Given the description of an element on the screen output the (x, y) to click on. 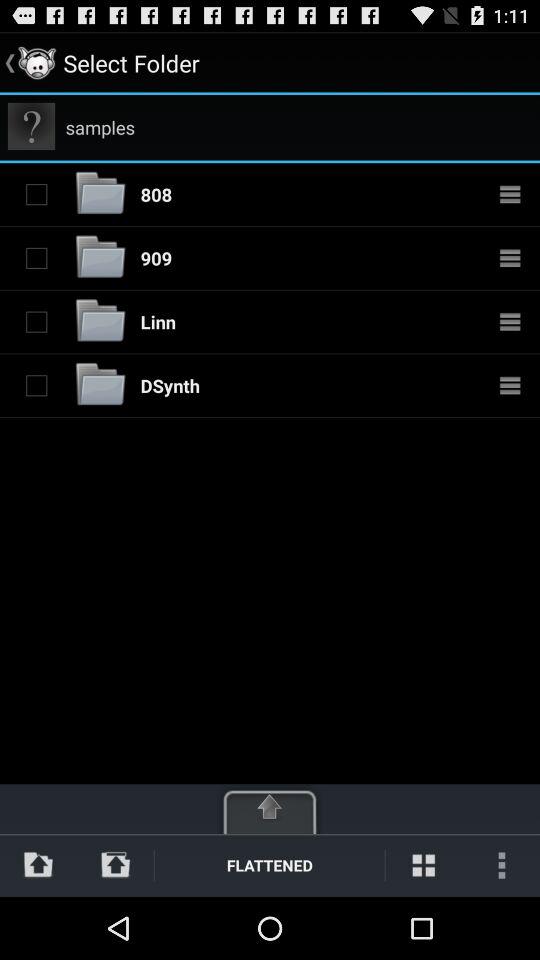
options (510, 385)
